Given the description of an element on the screen output the (x, y) to click on. 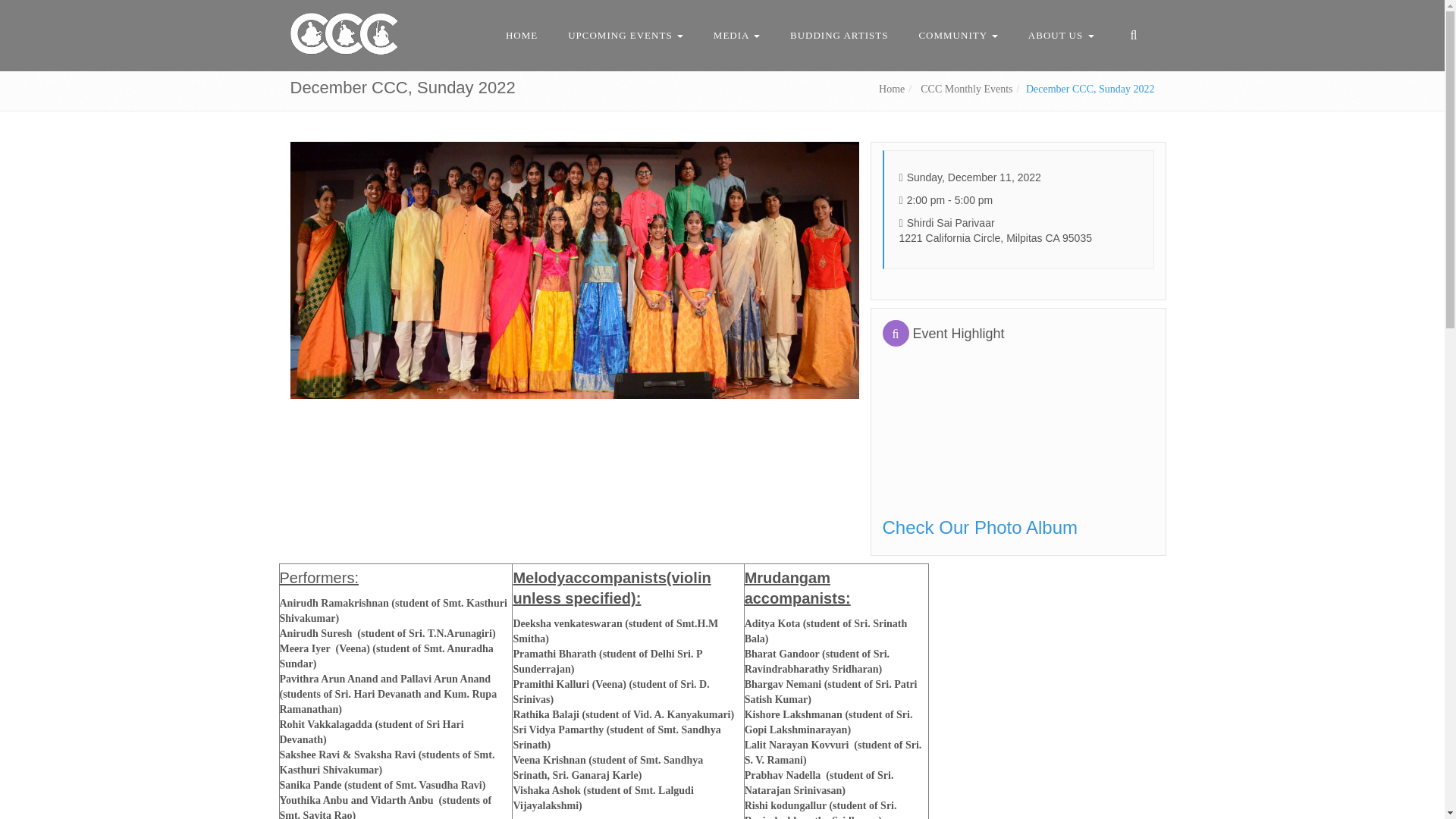
UPCOMING EVENTS (625, 35)
BUDDING ARTISTS (838, 35)
Media (736, 35)
Upcoming Events (625, 35)
COMMUNITY (956, 35)
ABOUT US (1061, 35)
Check Our Photo Album (979, 526)
Home (891, 89)
Budding Artists (838, 35)
MEDIA (736, 35)
